Given the description of an element on the screen output the (x, y) to click on. 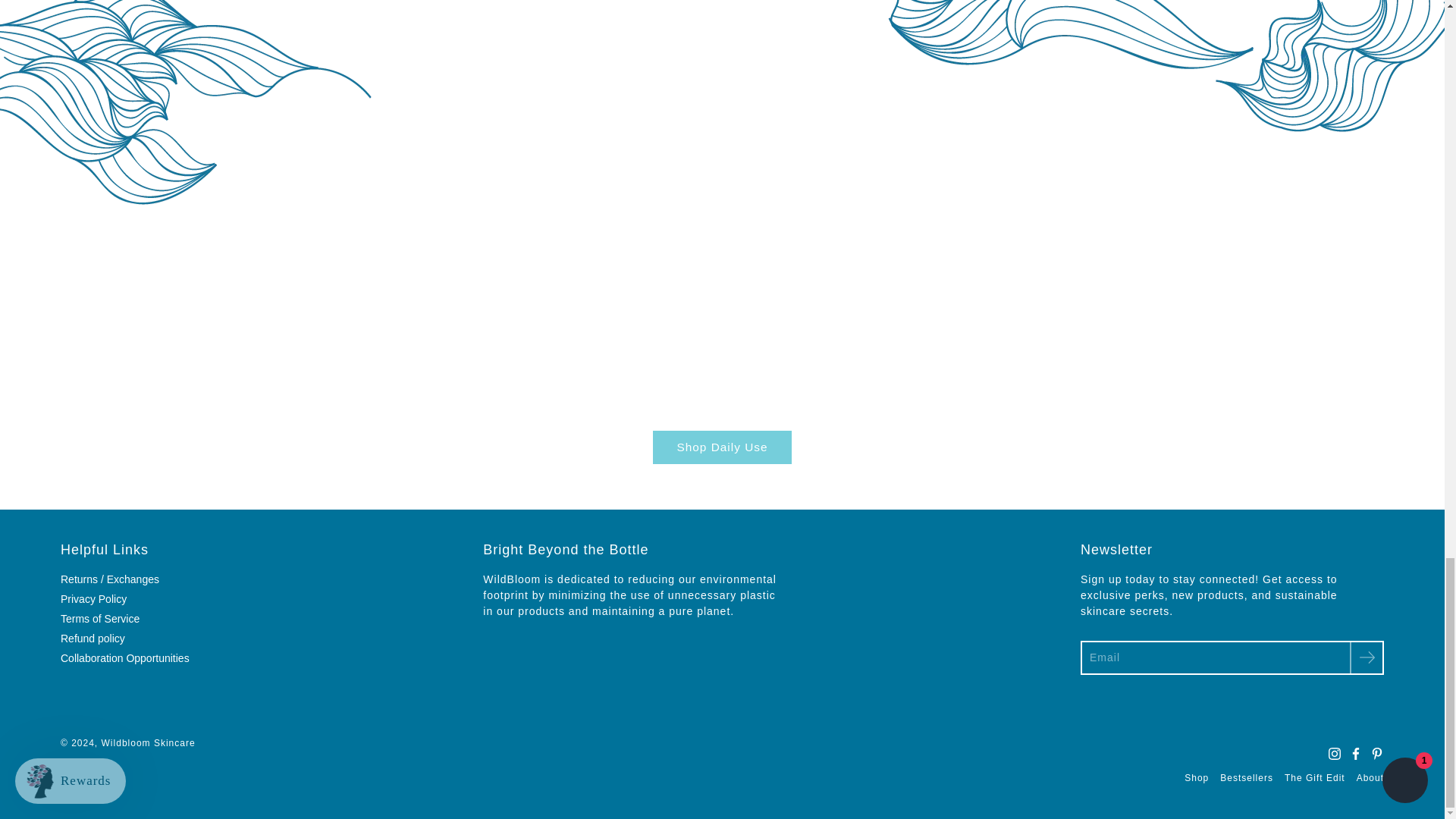
Daily Use (721, 447)
